Given the description of an element on the screen output the (x, y) to click on. 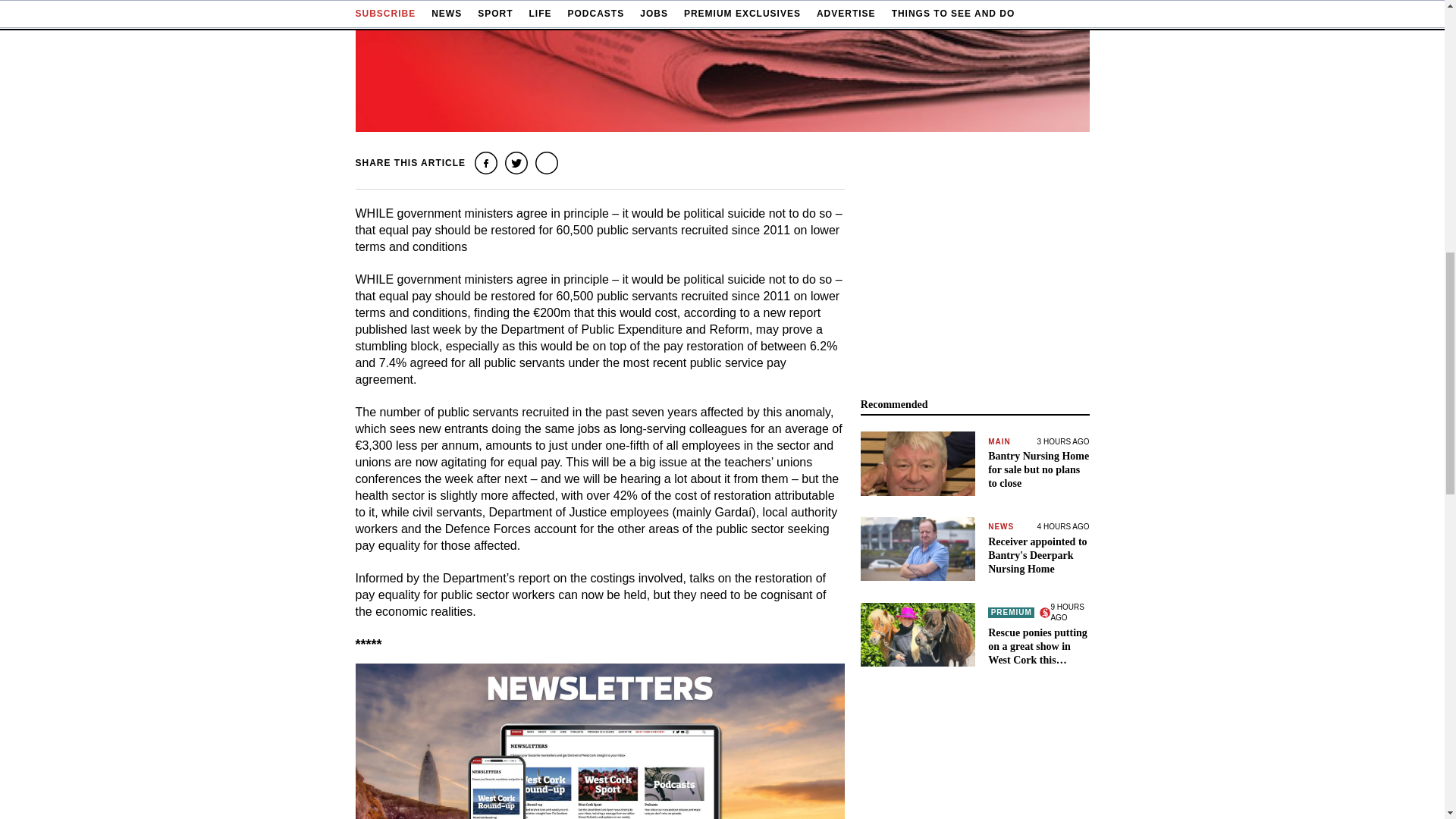
EDITORIAL: Restoration of pay equality Image (722, 65)
